Given the description of an element on the screen output the (x, y) to click on. 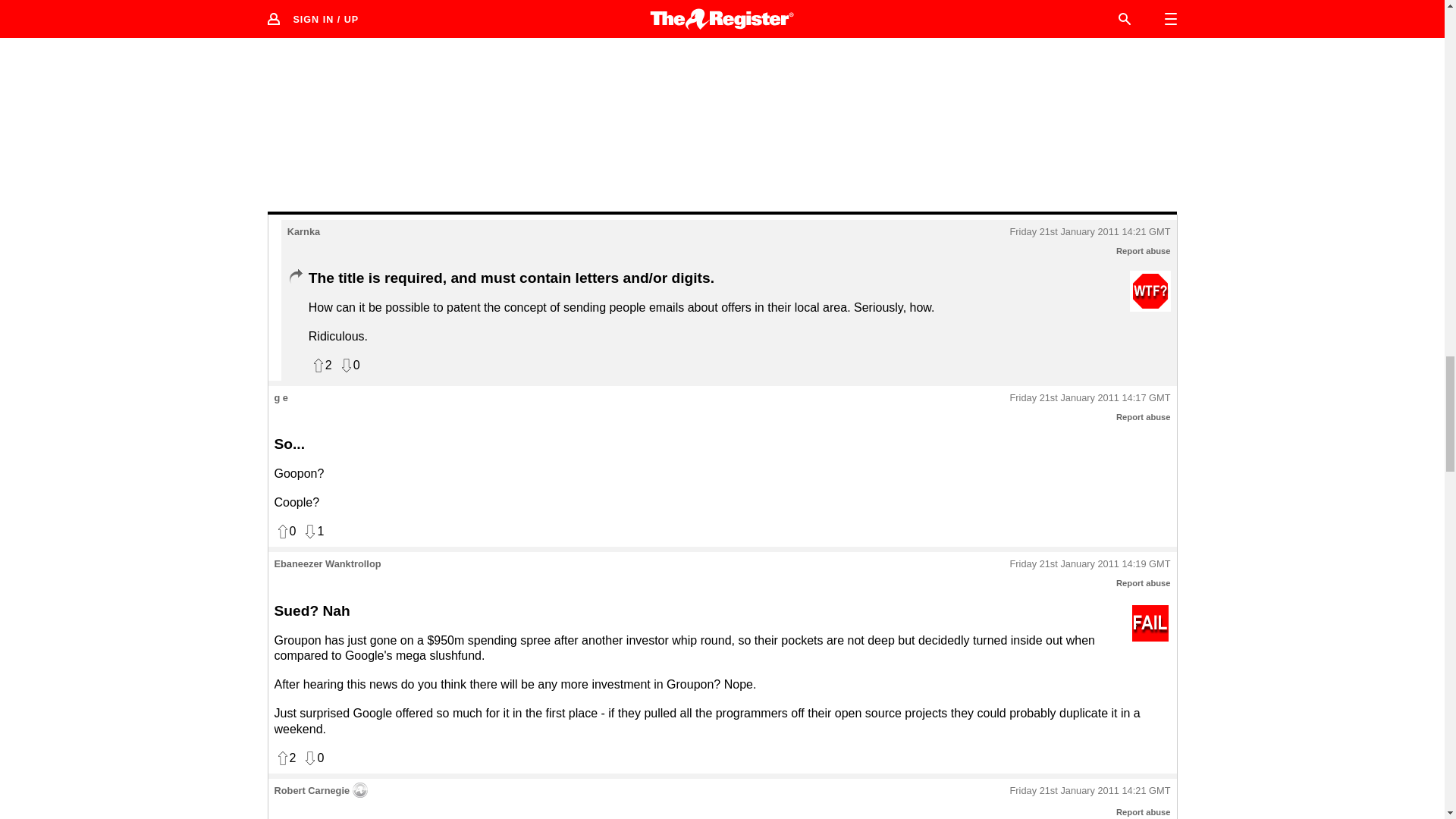
Report abuse (1143, 811)
Report abuse (1143, 583)
Report abuse (1143, 250)
Report abuse (1143, 416)
